Given the description of an element on the screen output the (x, y) to click on. 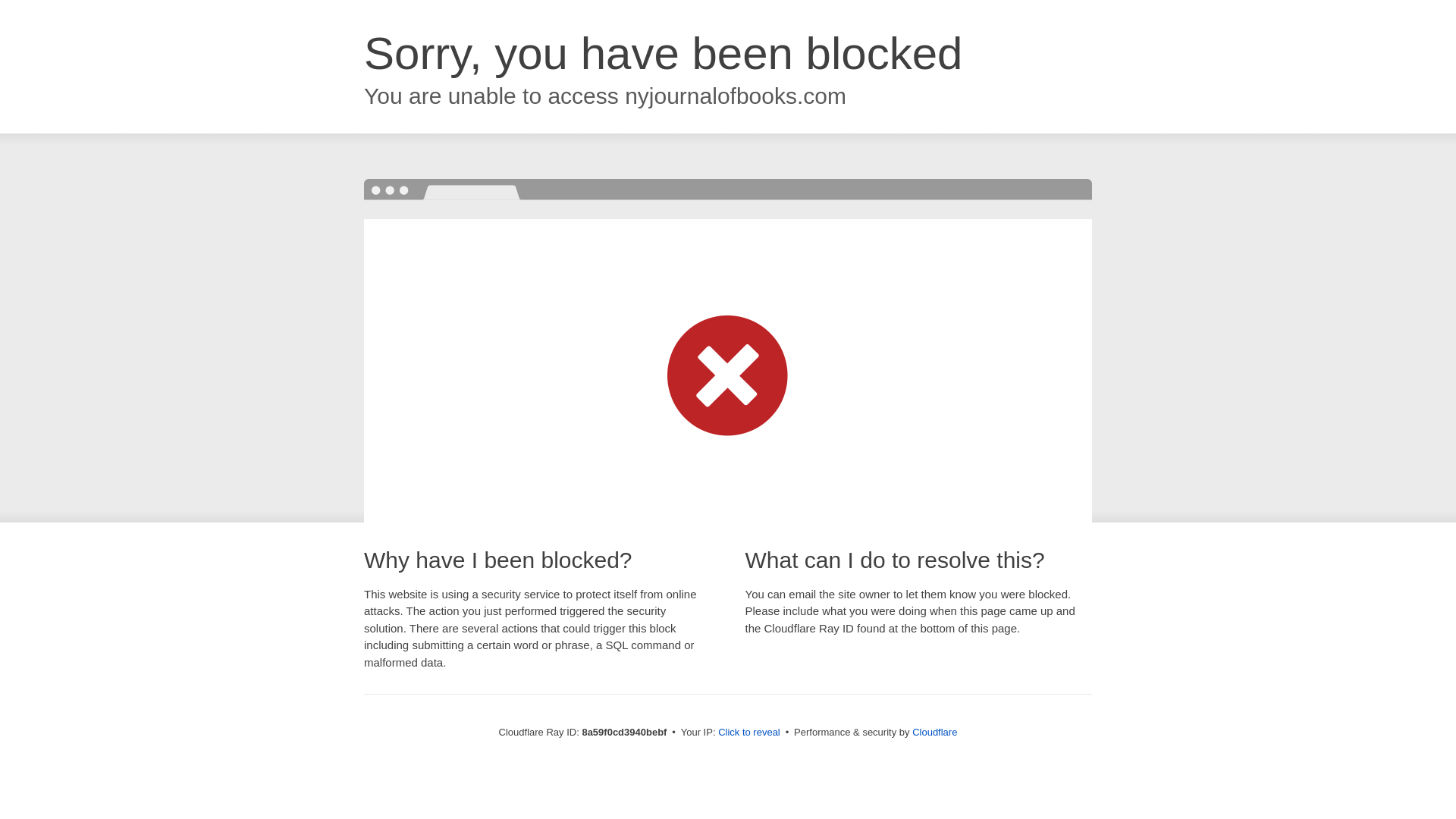
Click to reveal (748, 732)
Cloudflare (934, 731)
